Given the description of an element on the screen output the (x, y) to click on. 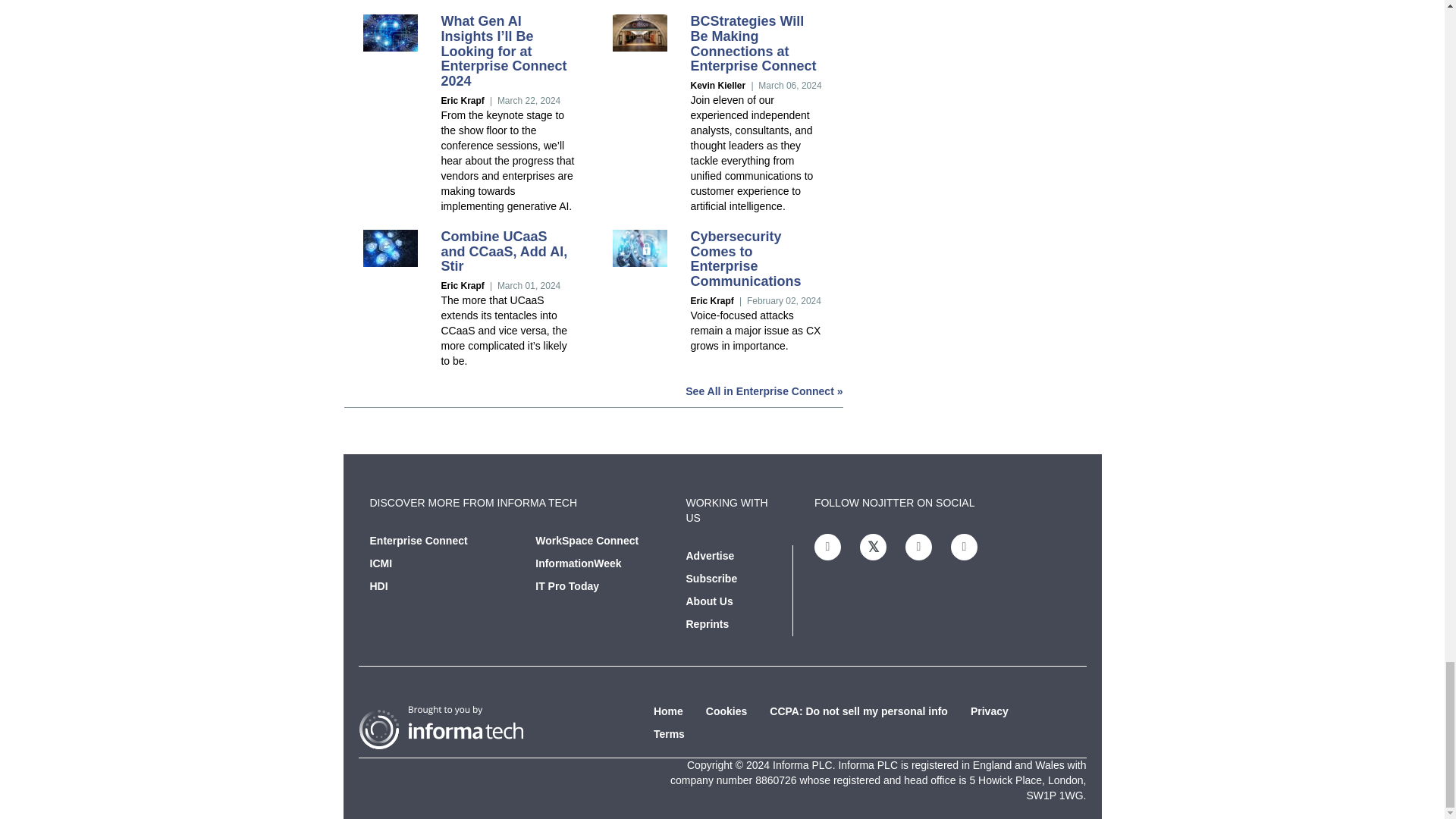
AI (389, 32)
Enterprise Connect (418, 540)
A contact center button (389, 248)
WorkSpace Connect (587, 540)
ICMI (381, 563)
Cybersecurity (640, 248)
